Given the description of an element on the screen output the (x, y) to click on. 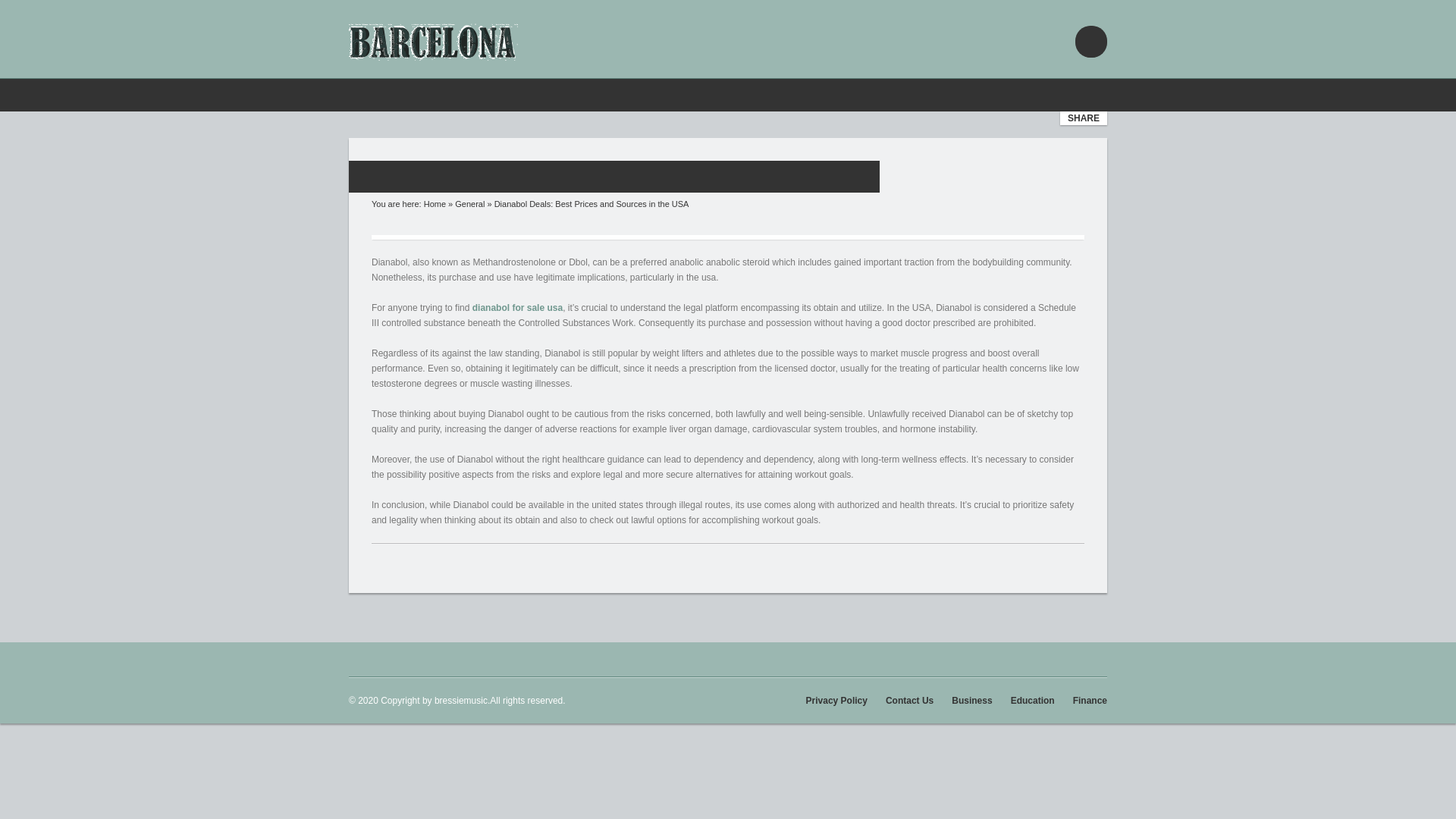
Search (8, 7)
General (469, 203)
Home (434, 203)
Education (1032, 700)
Finance (1089, 700)
SHARE (1083, 118)
Business (971, 700)
Contact Us (909, 700)
dianabol for sale usa (516, 307)
Privacy Policy (836, 700)
